Given the description of an element on the screen output the (x, y) to click on. 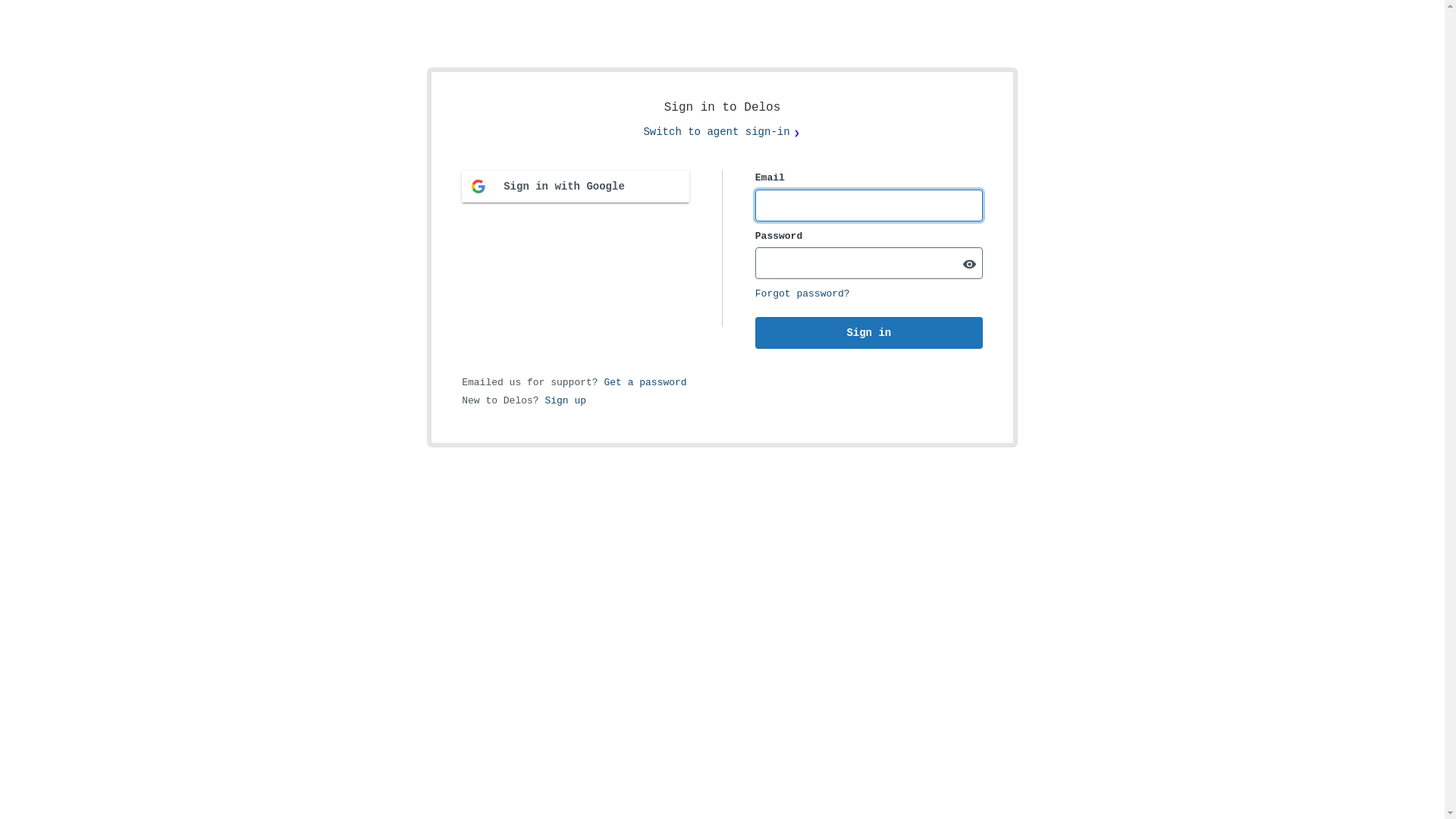
Sign up Element type: text (565, 400)
Forgot password? Element type: text (802, 293)
Get a password Element type: text (644, 382)
Switch to agent sign-in Element type: text (721, 132)
Sign in with Google Element type: text (575, 186)
Sign in Element type: text (868, 332)
